Given the description of an element on the screen output the (x, y) to click on. 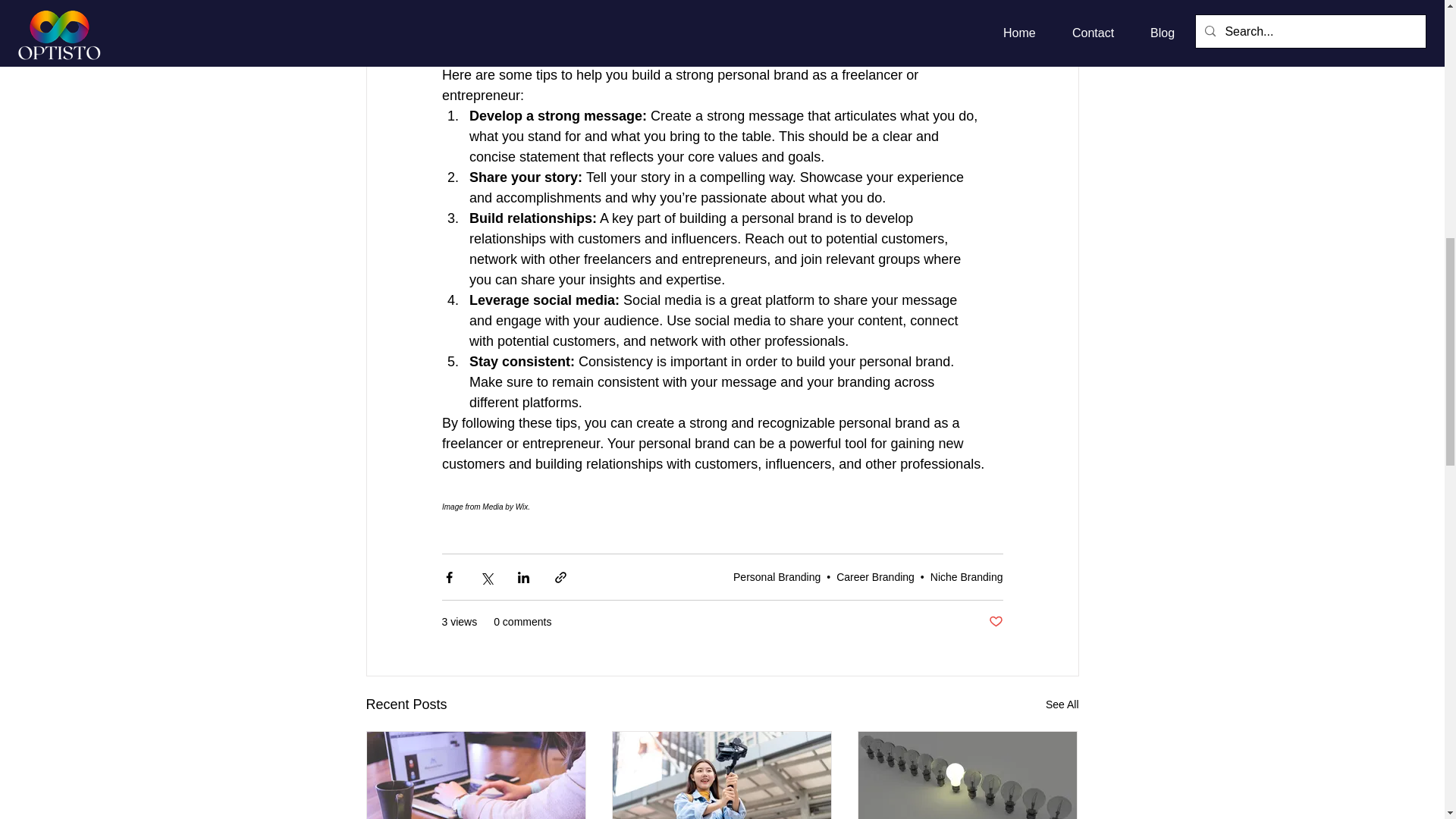
Niche Branding (966, 576)
Personal Branding (777, 576)
See All (1061, 704)
Career Branding (874, 576)
Post not marked as liked (995, 621)
